Given the description of an element on the screen output the (x, y) to click on. 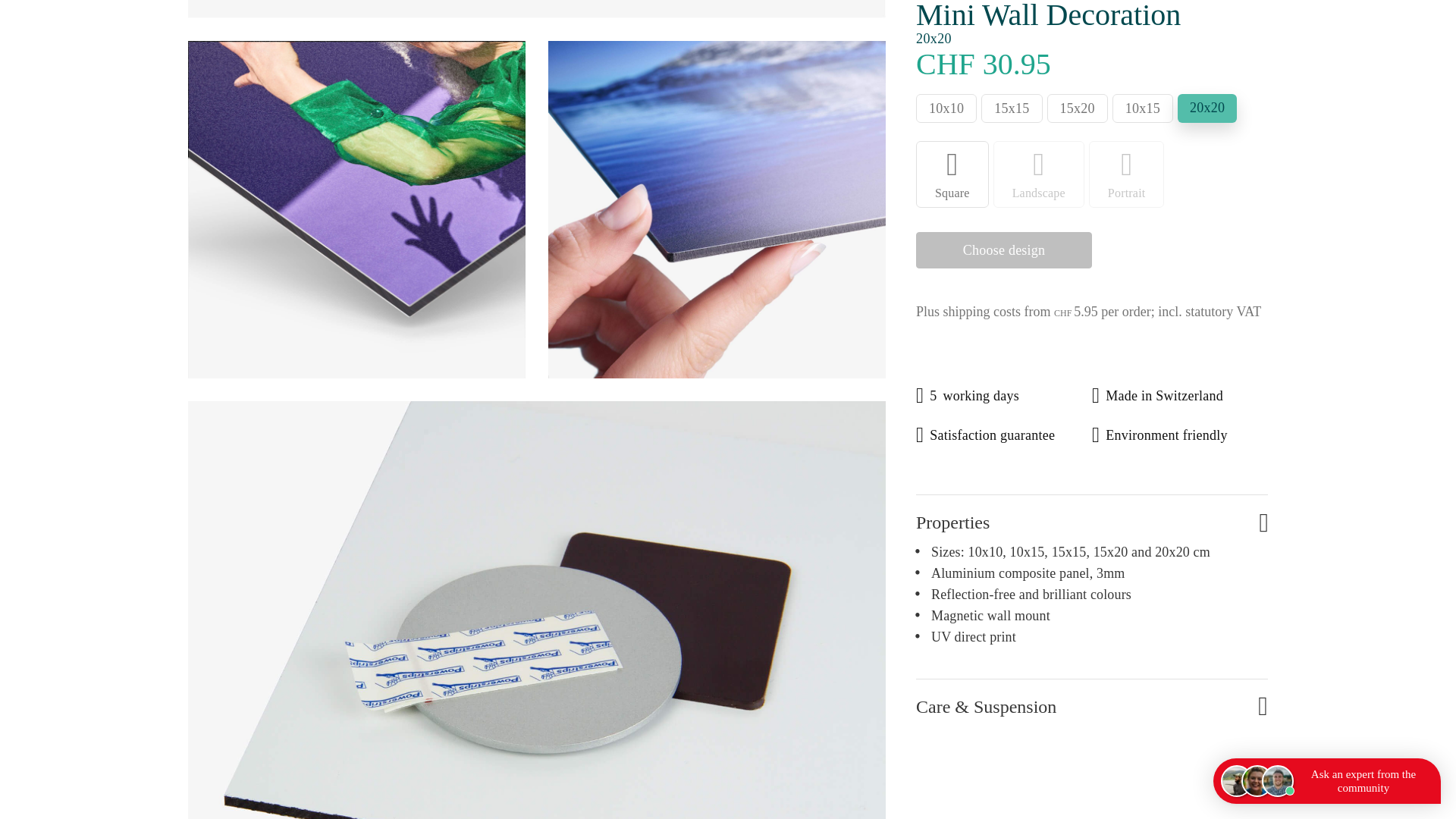
01.jpg (536, 9)
